Given the description of an element on the screen output the (x, y) to click on. 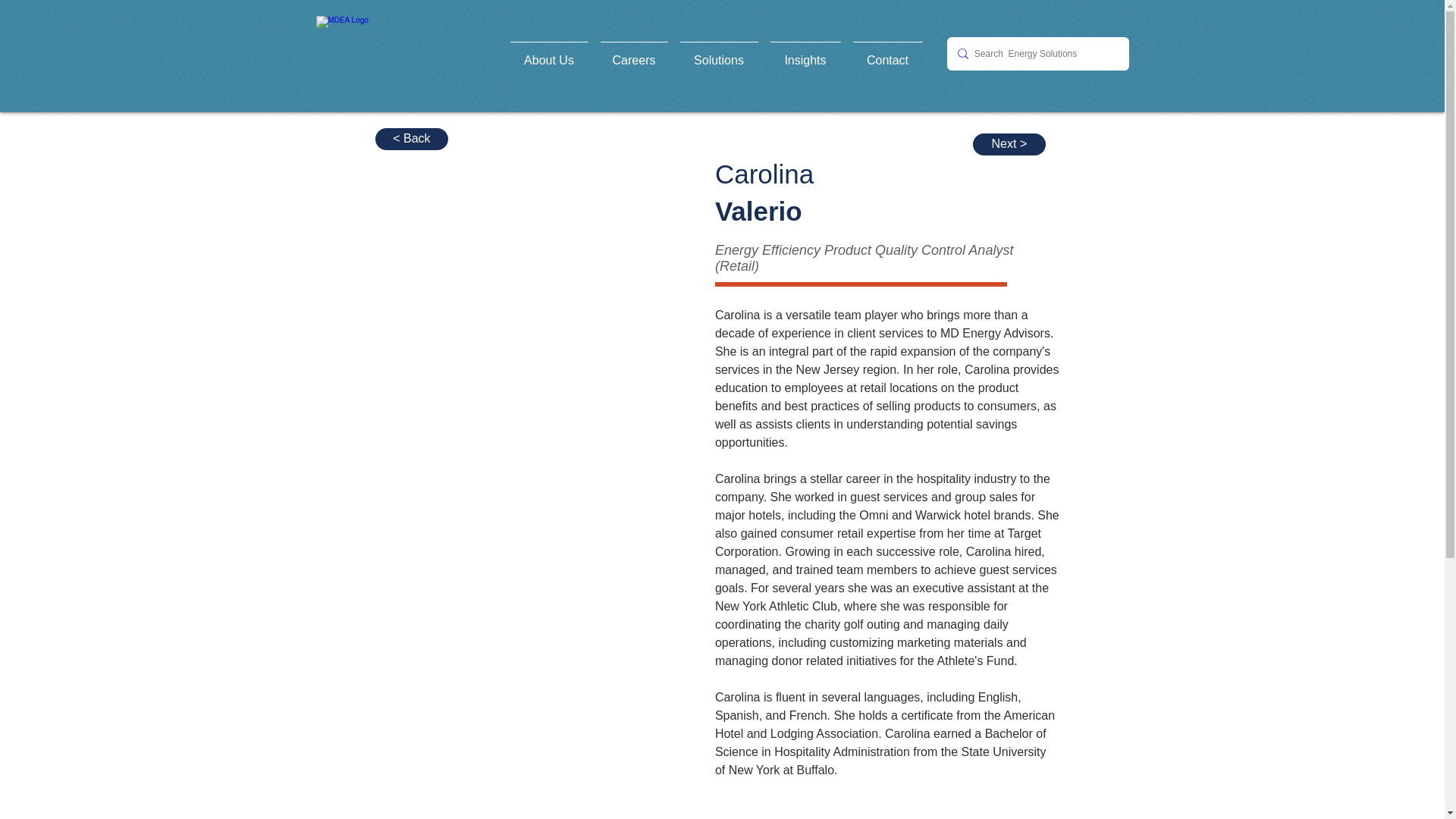
Carolina Valerio.png (516, 316)
Careers (634, 53)
Insights (805, 53)
Contact (886, 53)
About Us (548, 53)
Solutions (717, 53)
